Given the description of an element on the screen output the (x, y) to click on. 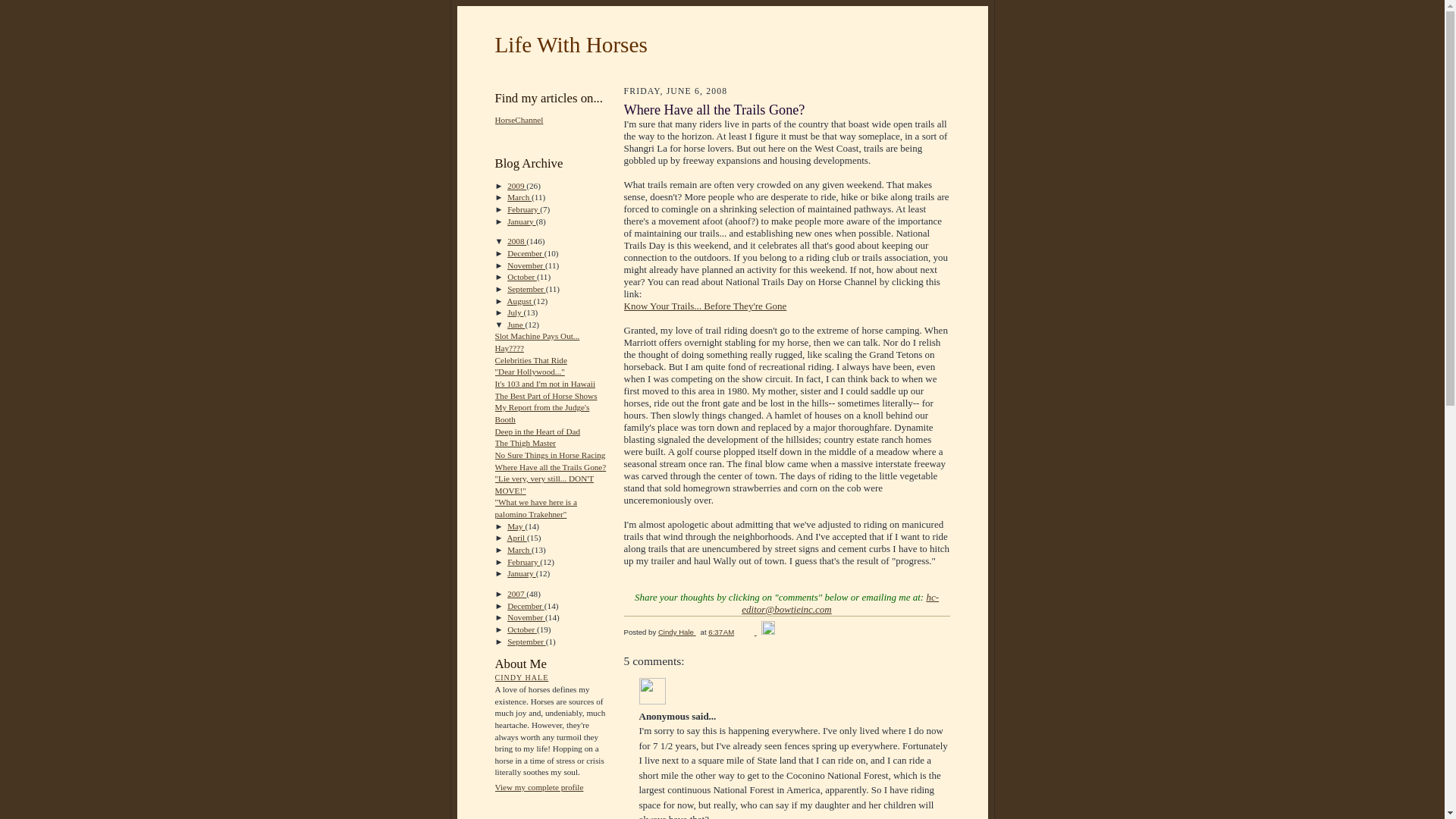
February (523, 208)
2009 (515, 185)
December (525, 252)
"Lie very, very still... DON'T MOVE!" (544, 484)
October (521, 276)
September (526, 288)
August (520, 300)
Life With Horses (570, 44)
No Sure Things in Horse Racing (550, 454)
Email Post (749, 632)
"What we have here is a palomino Trakehner" (535, 507)
Anonymous (652, 691)
My Report from the Judge's Booth (542, 413)
"Dear Hollywood..." (529, 370)
Edit Post (767, 632)
